Given the description of an element on the screen output the (x, y) to click on. 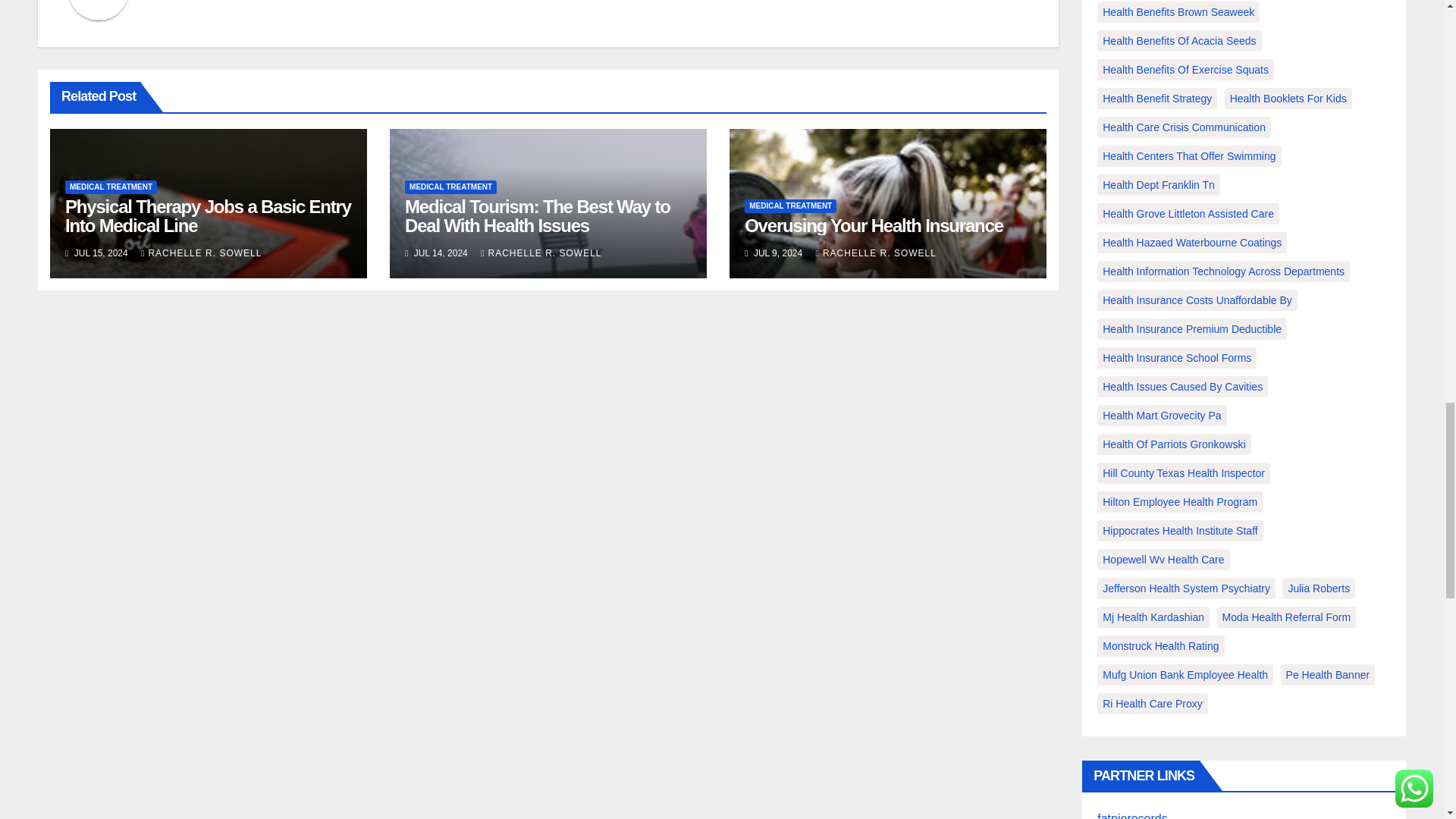
Permalink to: Overusing Your Health Insurance (873, 225)
